Given the description of an element on the screen output the (x, y) to click on. 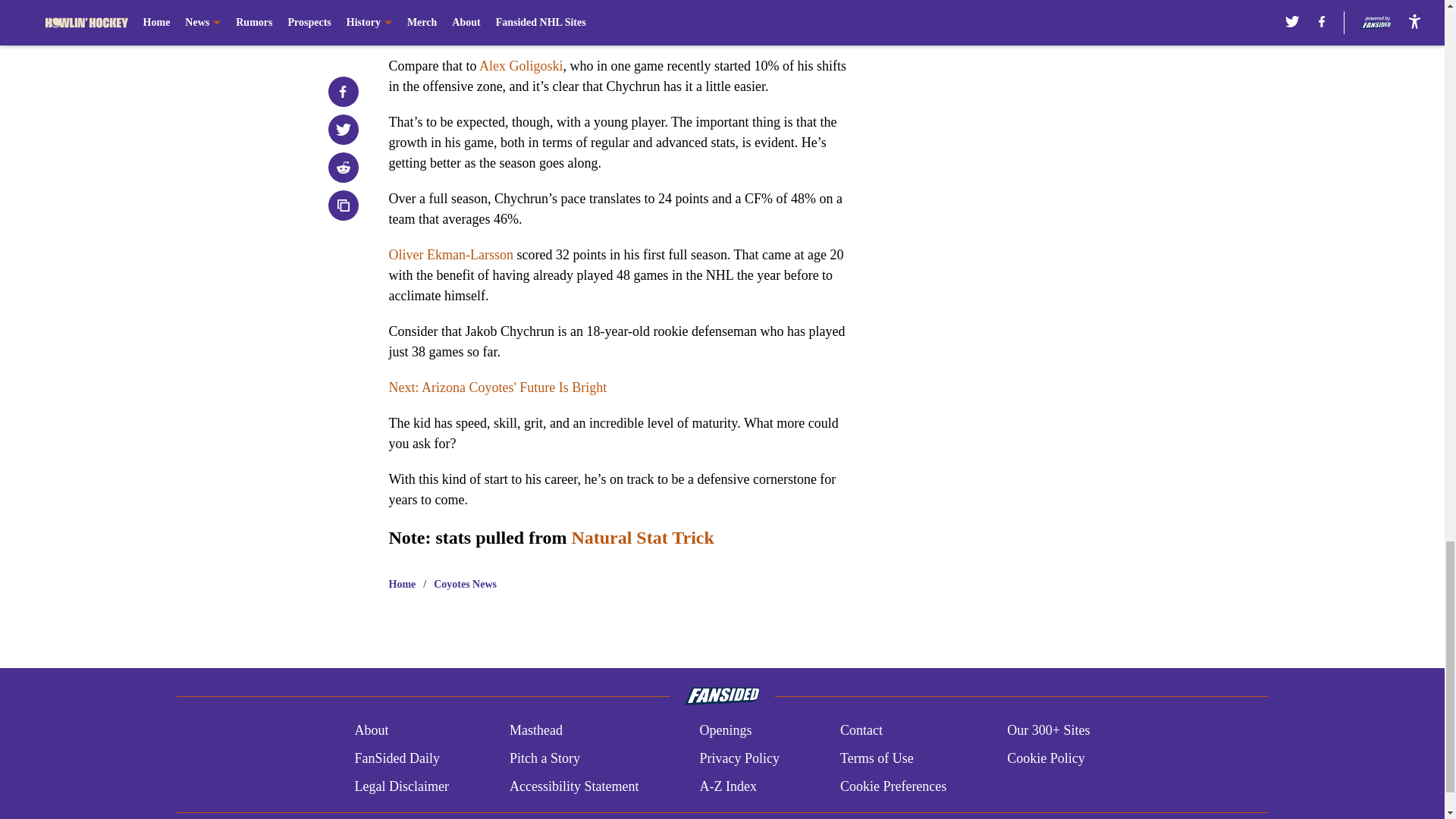
Coyotes News (464, 584)
Natural Stat Trick (641, 537)
Masthead (535, 730)
Next: Arizona Coyotes' Future Is Bright (497, 387)
Openings (724, 730)
Home (401, 584)
Contact (861, 730)
Oliver Ekman-Larsson (450, 254)
Alex Goligoski (521, 65)
About (370, 730)
